Given the description of an element on the screen output the (x, y) to click on. 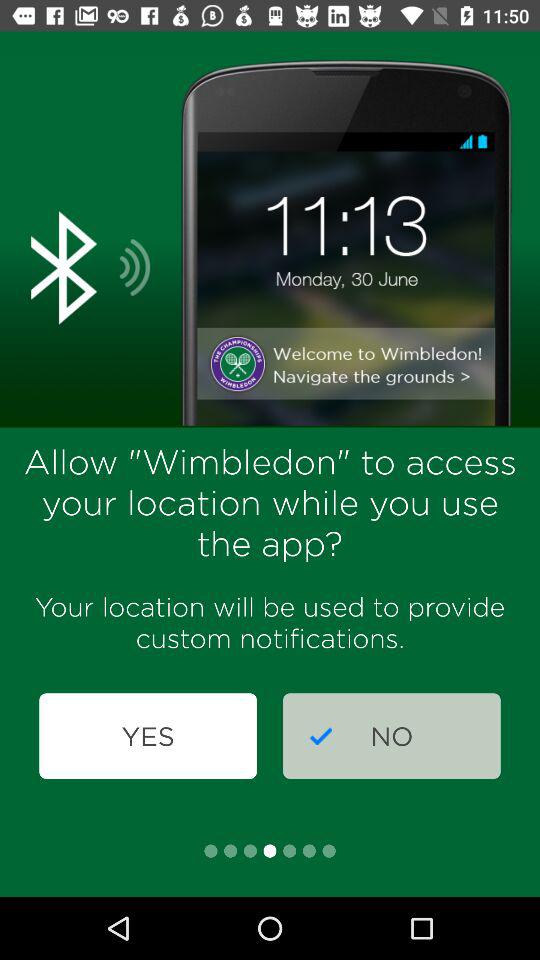
choose the yes (147, 735)
